Given the description of an element on the screen output the (x, y) to click on. 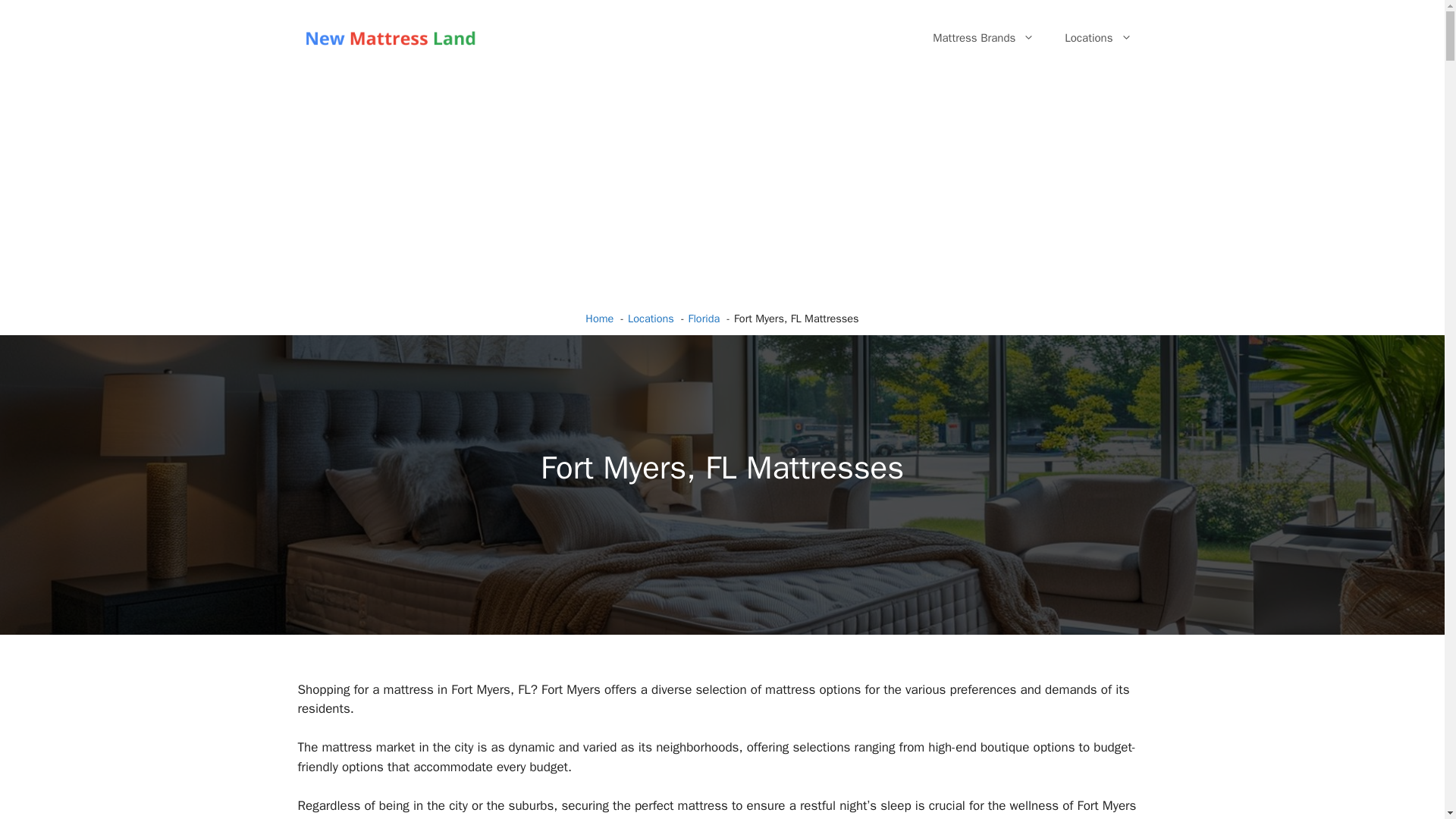
Mattress Brands (983, 37)
Locations (650, 318)
Home (598, 318)
Locations (1098, 37)
Florida (703, 318)
